Given the description of an element on the screen output the (x, y) to click on. 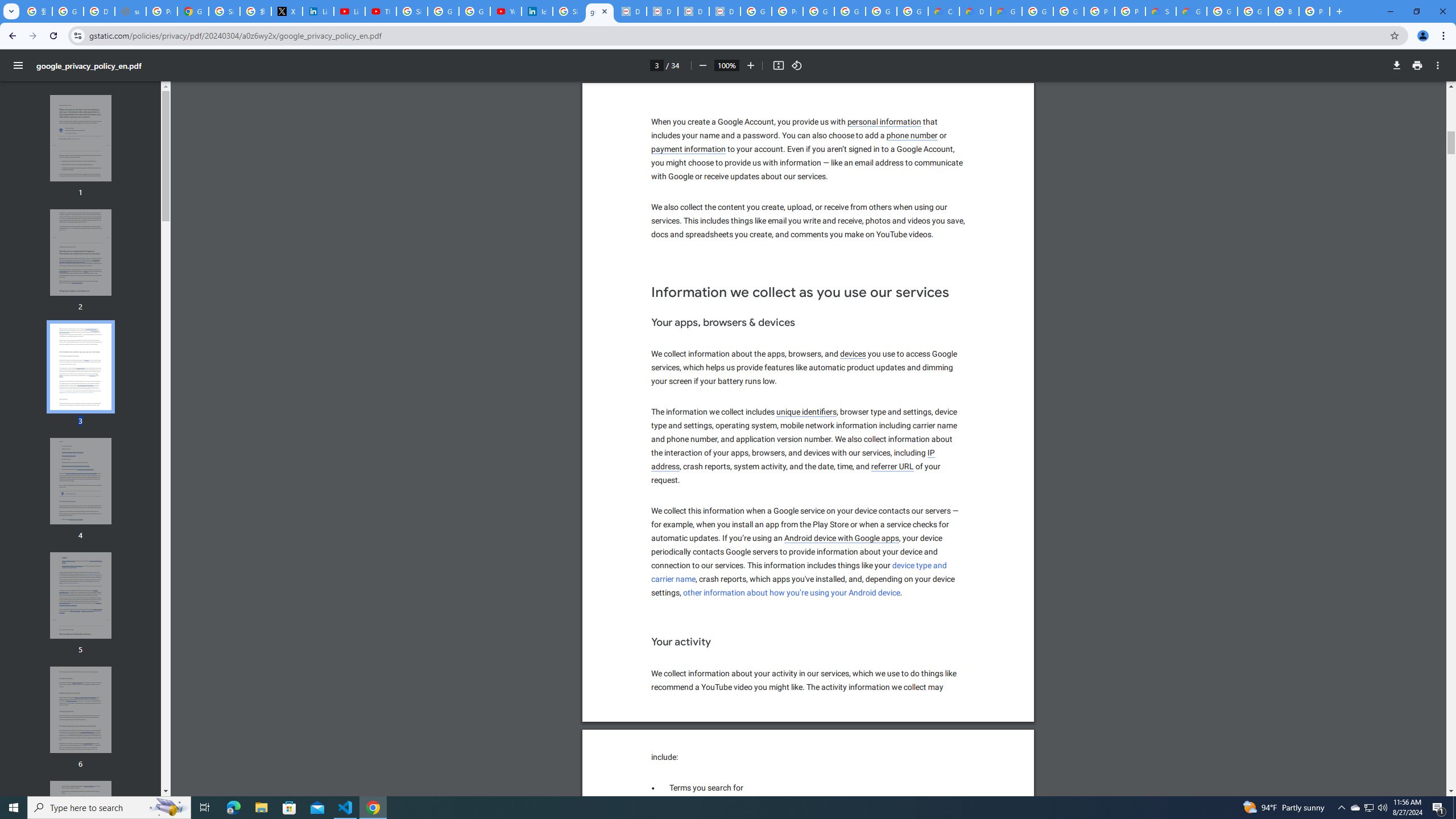
Download (1396, 65)
Menu (17, 65)
Zoom out (702, 65)
Android device with Google apps (841, 538)
Thumbnail for page 5 (80, 595)
Sign in - Google Accounts (568, 11)
Rotate counterclockwise (796, 65)
referrer URL (892, 466)
Privacy Help Center - Policies Help (161, 11)
personal information (672, 578)
Print (884, 122)
payment information (1416, 65)
